Given the description of an element on the screen output the (x, y) to click on. 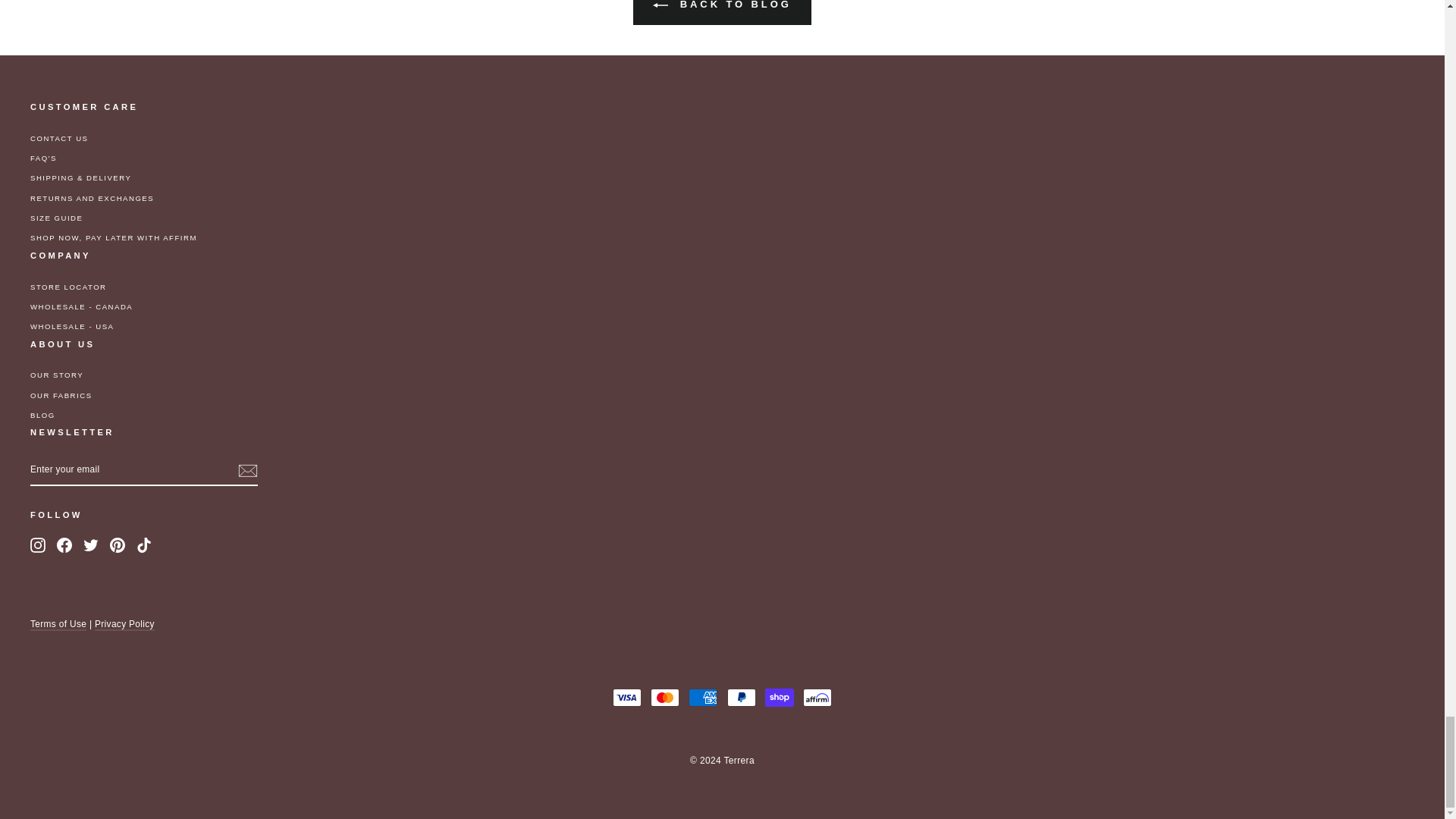
PayPal (740, 697)
Affirm (817, 697)
Visa (627, 697)
Shop Pay (779, 697)
American Express (702, 697)
Mastercard (664, 697)
